Given the description of an element on the screen output the (x, y) to click on. 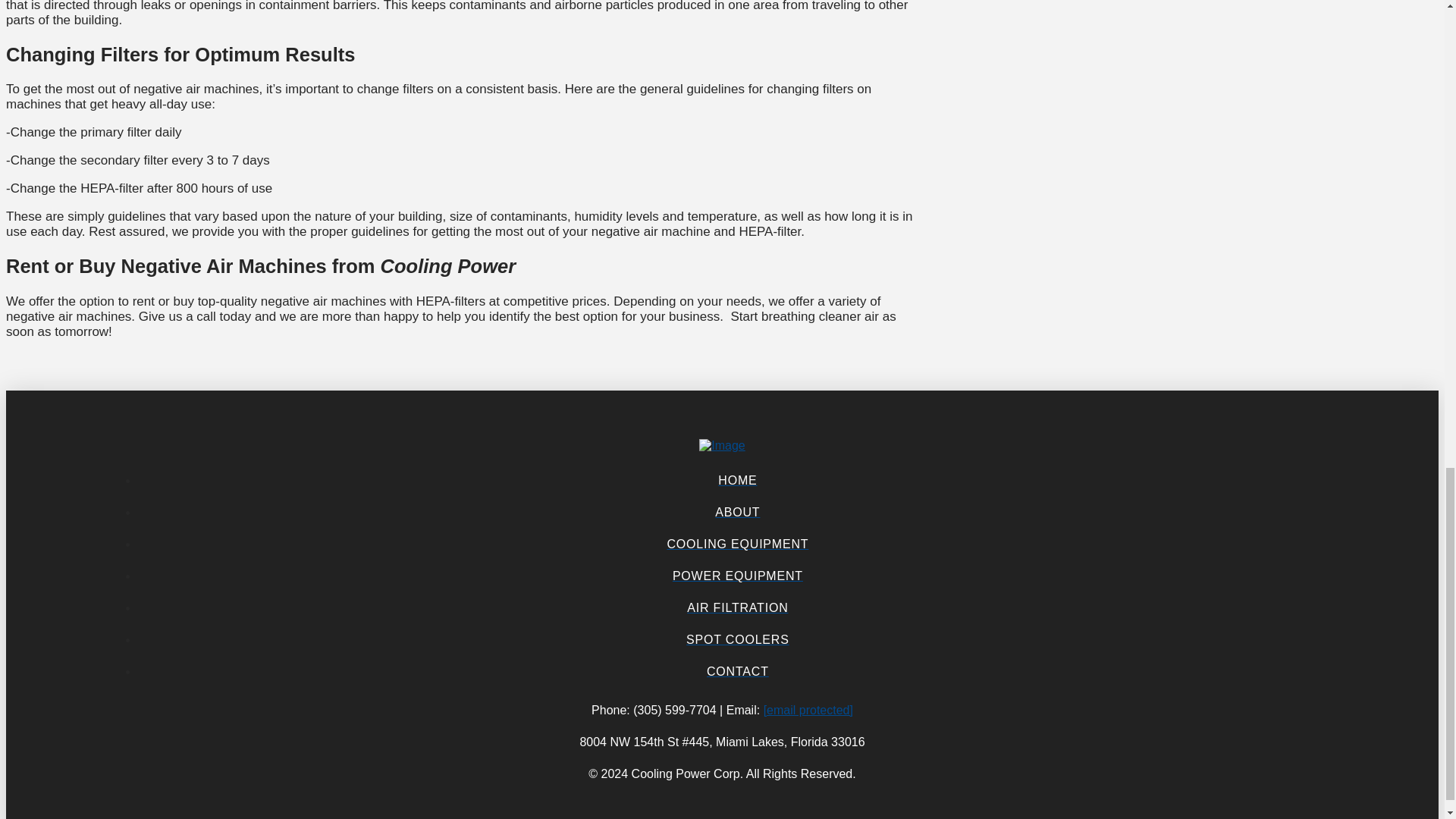
ABOUT (737, 512)
COOLING EQUIPMENT (737, 544)
CONTACT (737, 671)
AIR FILTRATION (737, 608)
SPOT COOLERS (737, 640)
HOME (737, 480)
POWER EQUIPMENT (737, 576)
